Given the description of an element on the screen output the (x, y) to click on. 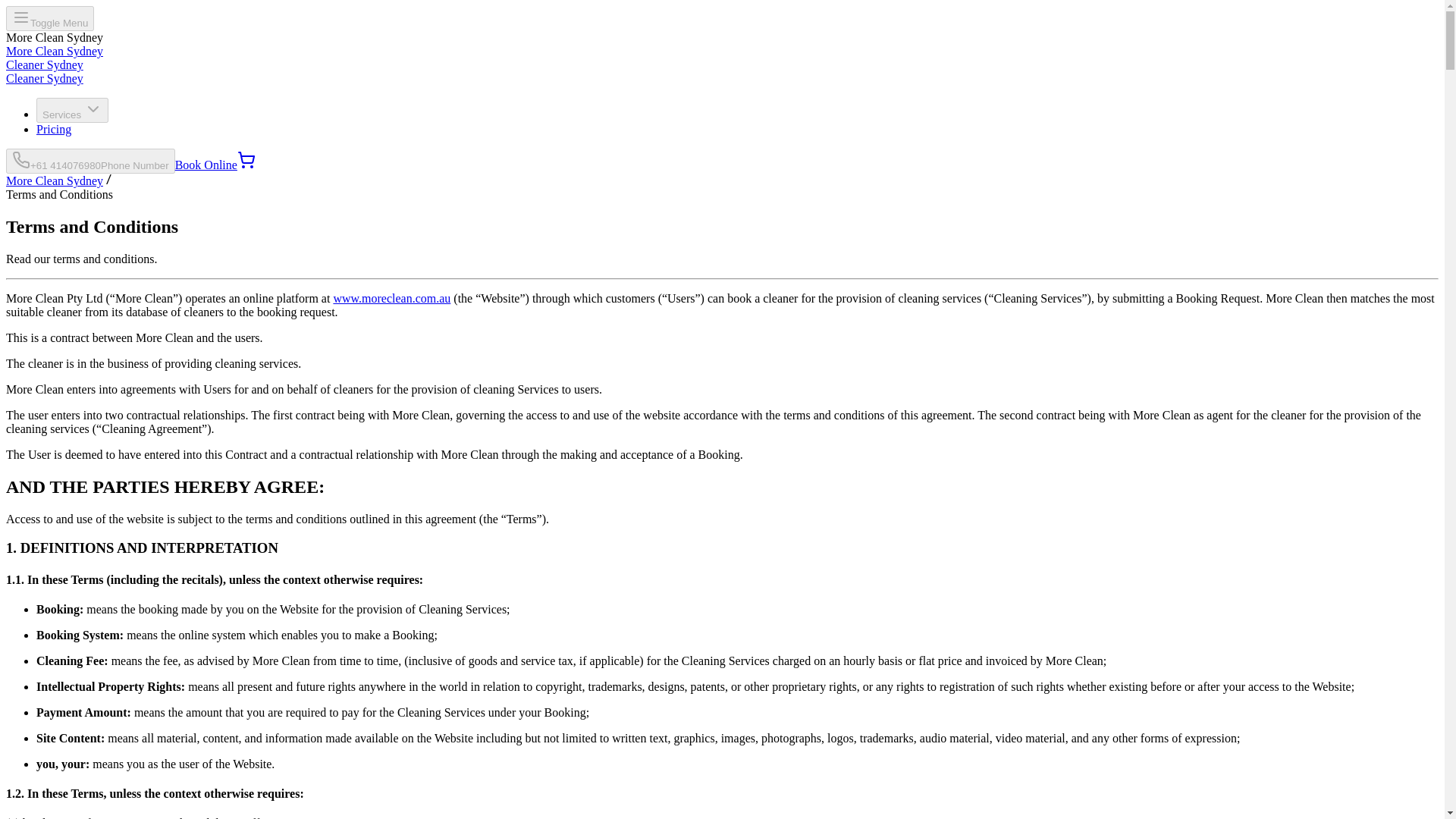
Book Online (205, 164)
Cleaner Sydney (43, 64)
More Clean Sydney (54, 180)
More Clean Sydney (54, 51)
More Clean Sydney (54, 180)
www.moreclean.com.au (391, 297)
Pricing (53, 128)
Toggle Menu (49, 18)
Cleaner Sydney (43, 78)
More Clean Sydney (54, 51)
Services (71, 109)
